Given the description of an element on the screen output the (x, y) to click on. 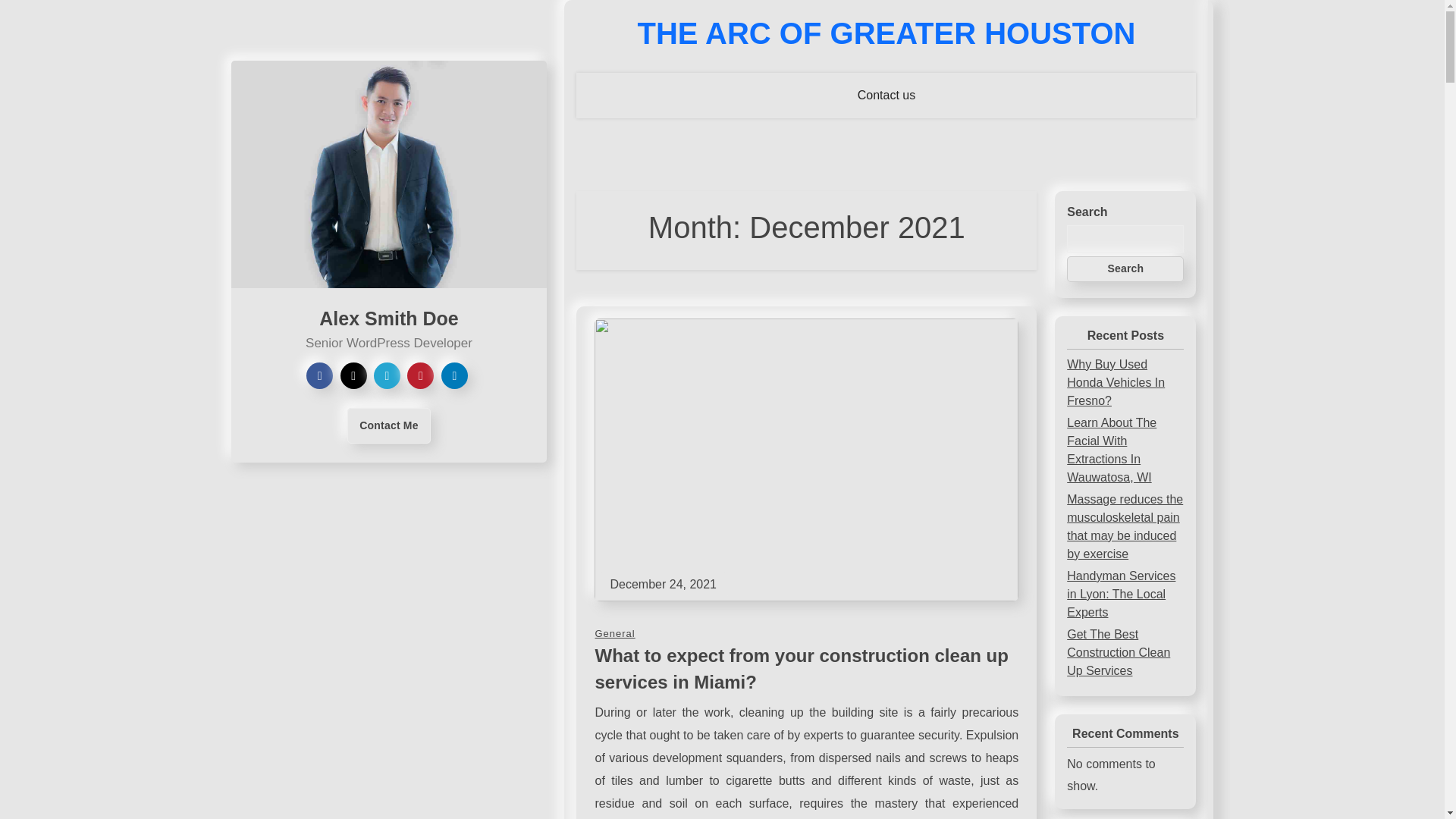
Search (1125, 268)
THE ARC OF GREATER HOUSTON (886, 33)
General (614, 633)
Contact Me (388, 425)
Contact us (885, 95)
